Given the description of an element on the screen output the (x, y) to click on. 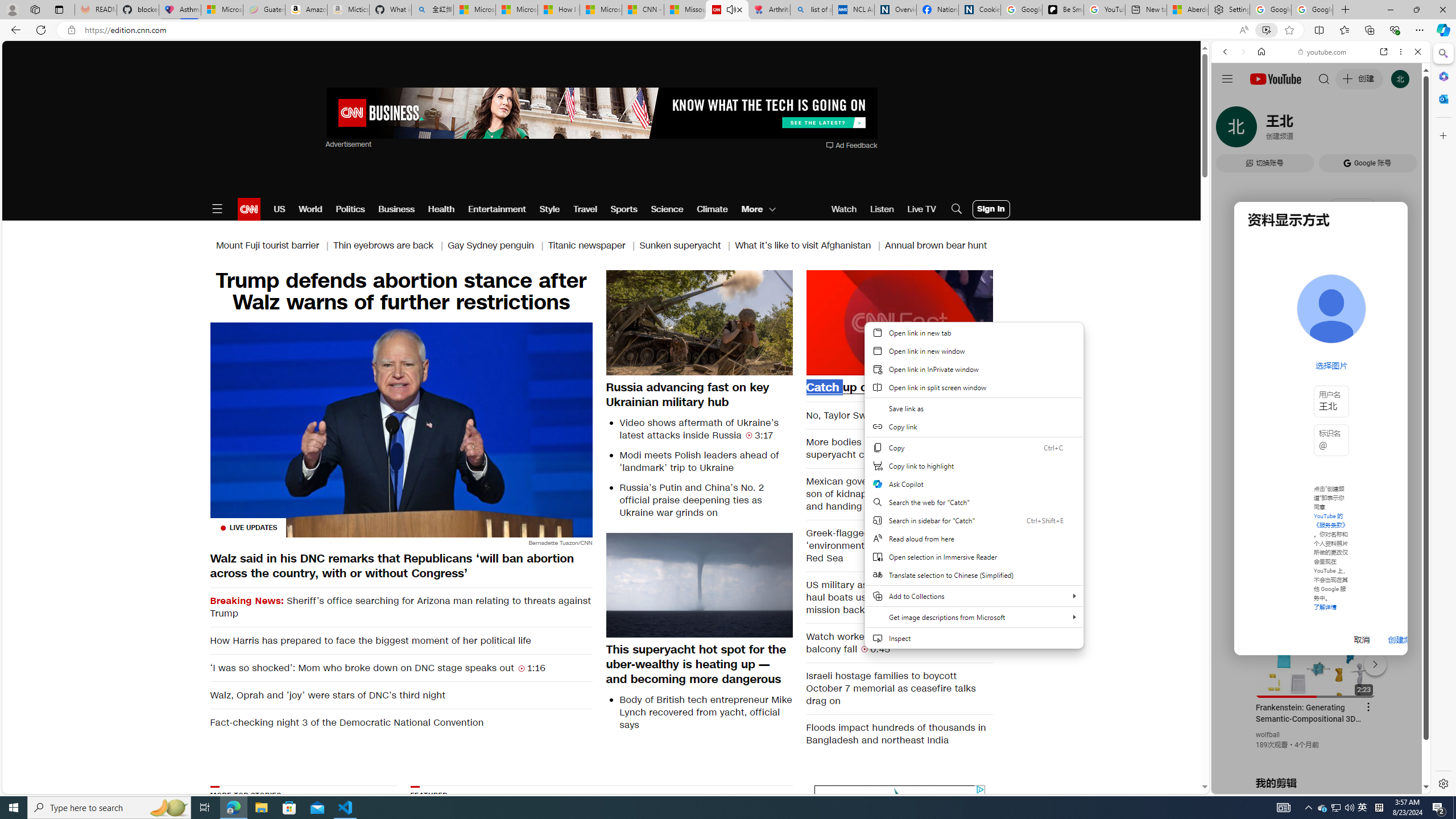
Preferences (1403, 129)
Business (396, 209)
Class: container__video-duration-icon (864, 648)
Ask Copilot (973, 484)
Be Smart | creating Science videos | Patreon (1062, 9)
